Given the description of an element on the screen output the (x, y) to click on. 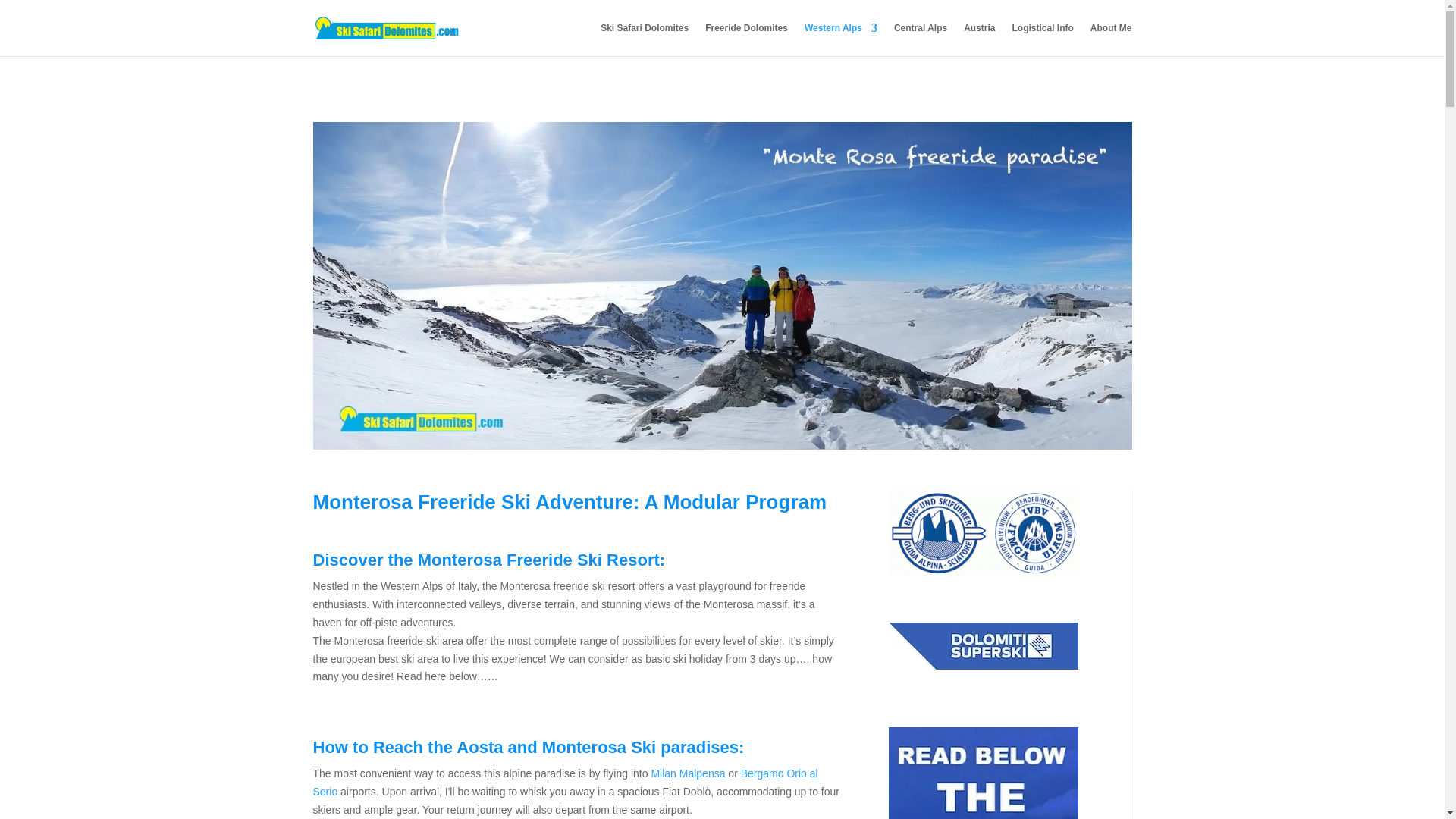
Western Alps (841, 39)
Ski Safari Dolomites (643, 39)
Logistical Info (1042, 39)
Bergamo Orio al Serio (564, 782)
Milan Malpensa (687, 773)
Central Alps (920, 39)
About Me (1111, 39)
Austria (978, 39)
Freeride Dolomites (745, 39)
